Given the description of an element on the screen output the (x, y) to click on. 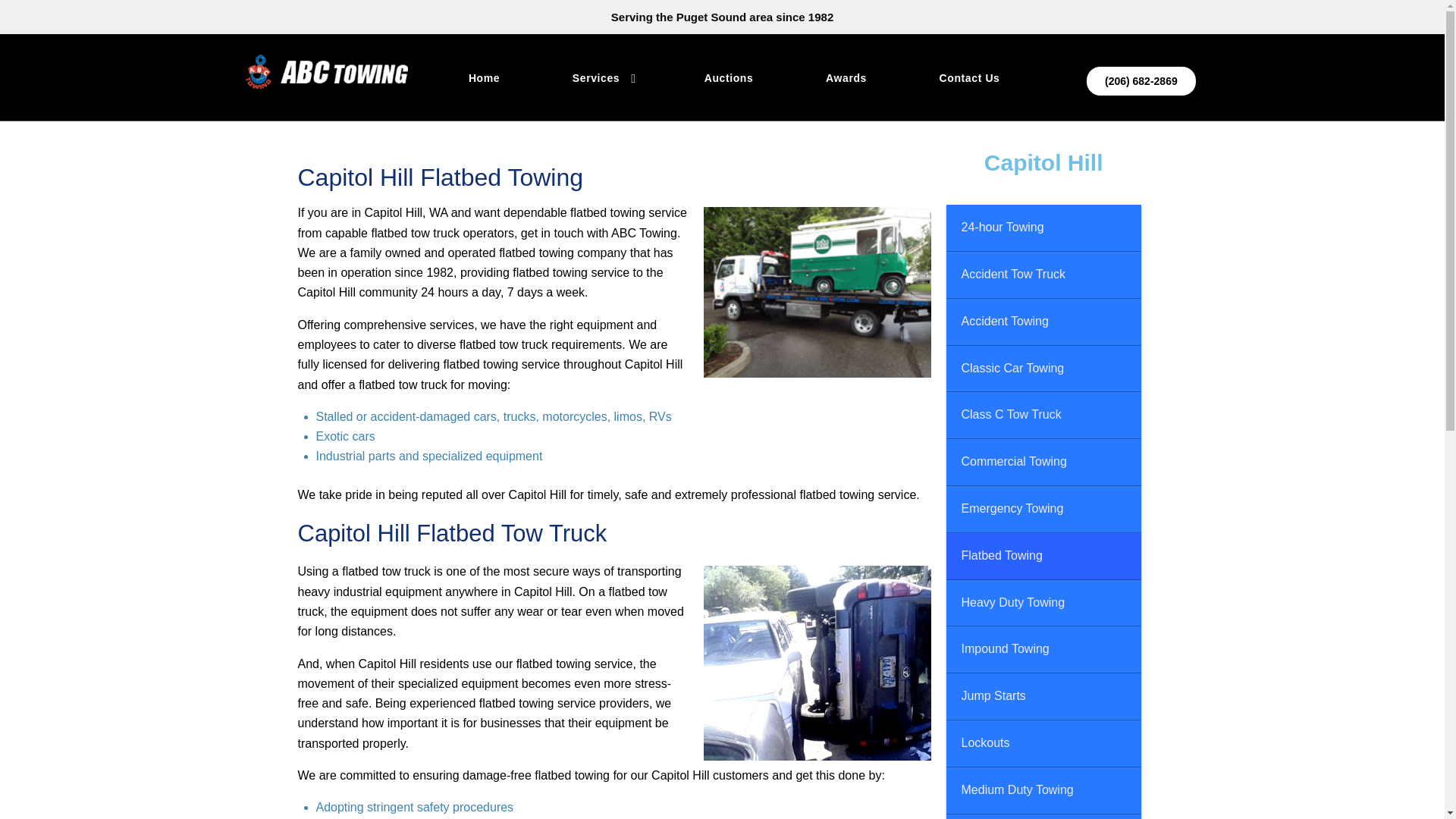
Home (483, 75)
Services (601, 75)
